Given the description of an element on the screen output the (x, y) to click on. 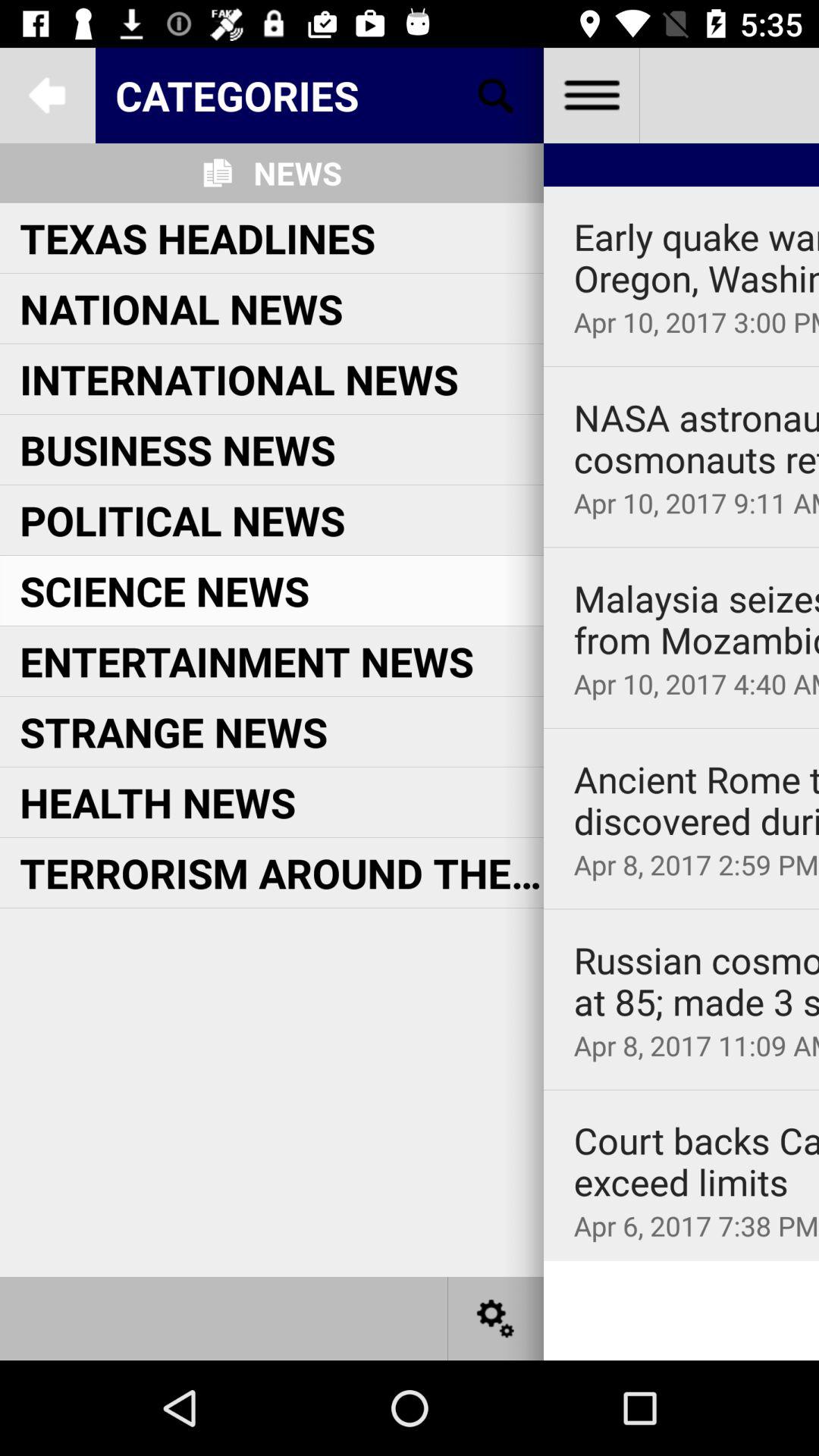
tap the item above science news icon (182, 519)
